Given the description of an element on the screen output the (x, y) to click on. 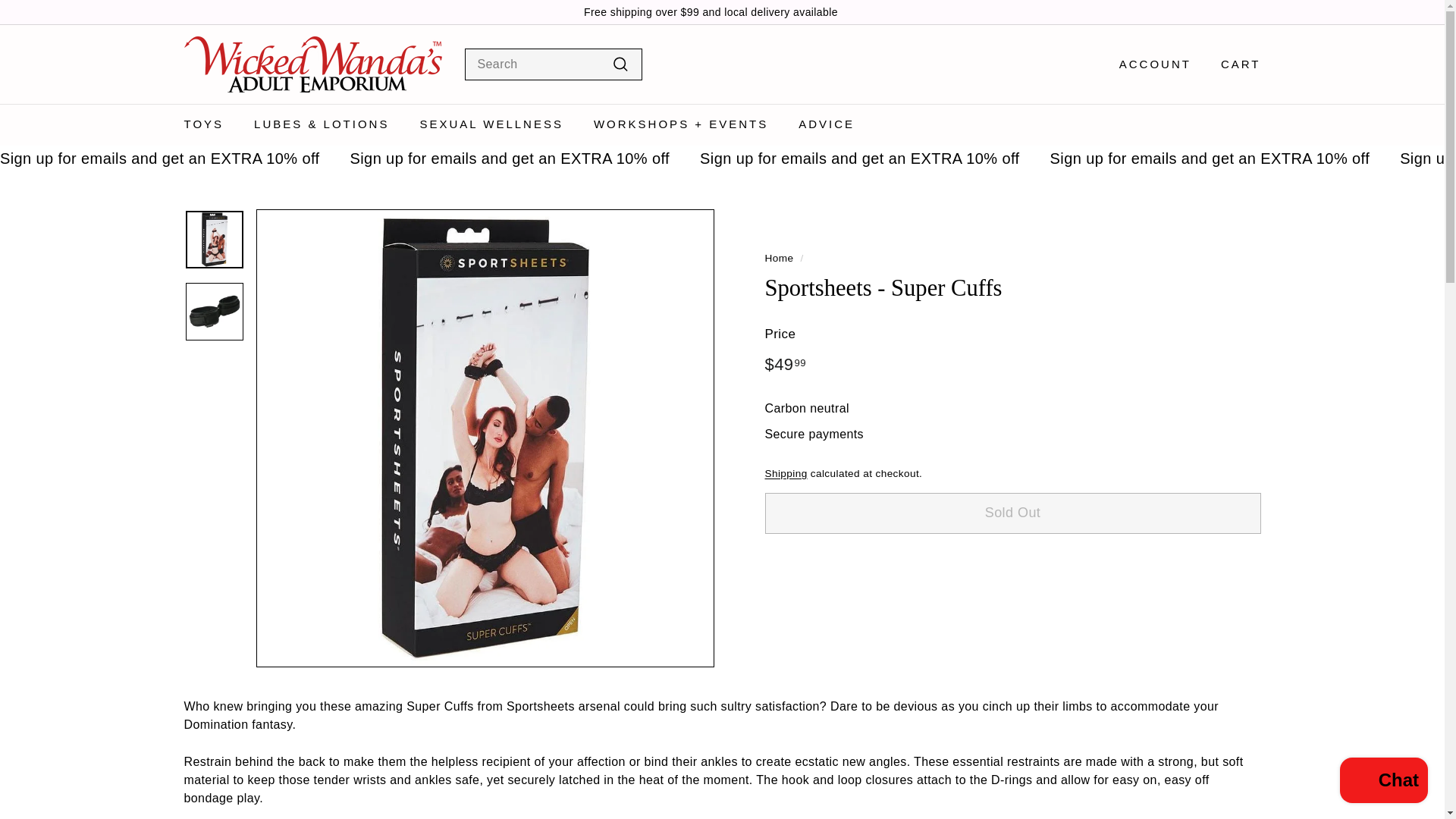
Facebook (1256, 12)
Back to the frontpage (778, 257)
WW INC on Instagram (1248, 12)
CART (1234, 64)
ACCOUNT (1149, 64)
Instagram (1248, 12)
WW INC on Facebook (1256, 12)
